Given the description of an element on the screen output the (x, y) to click on. 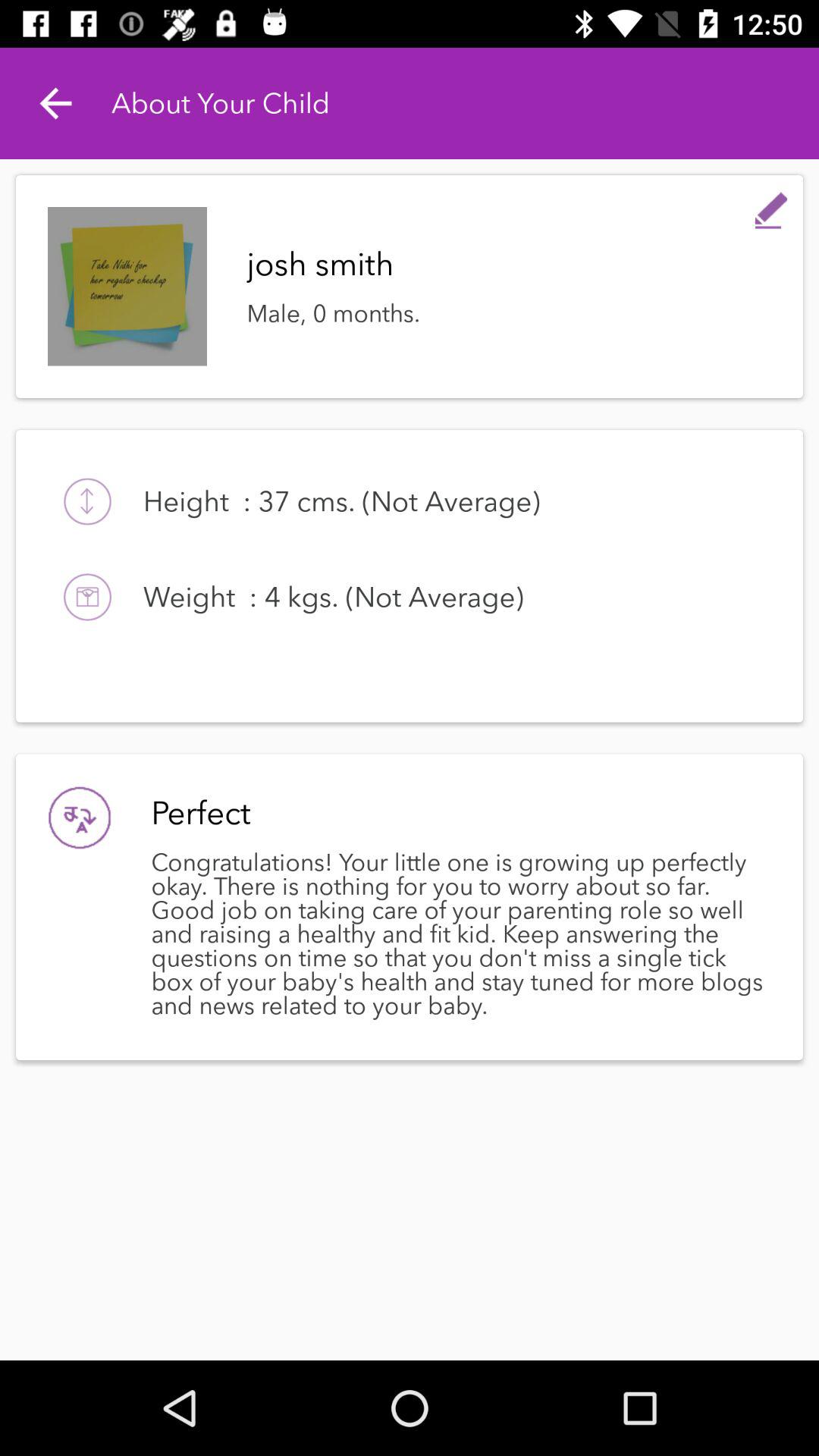
tap icon next to the about your child item (55, 103)
